Given the description of an element on the screen output the (x, y) to click on. 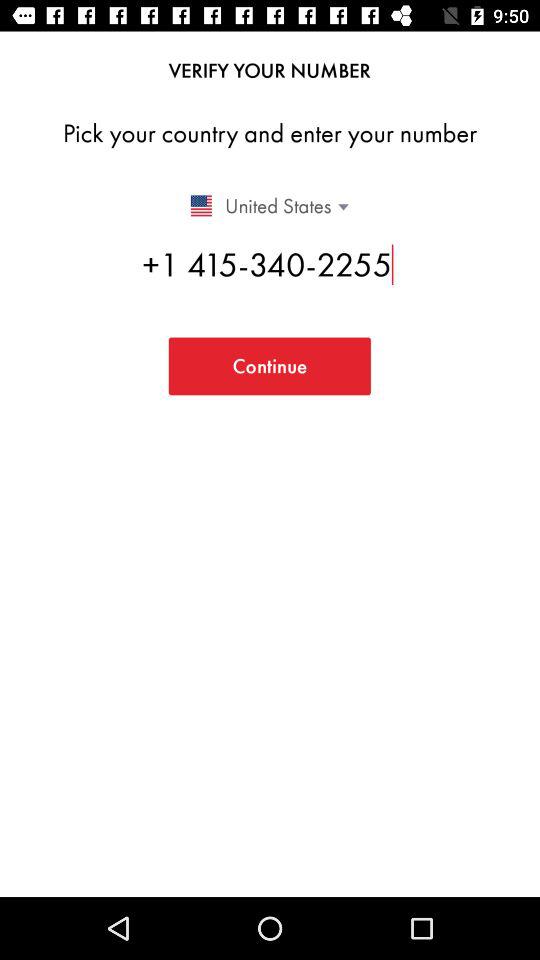
tap icon below 1 415 340 item (269, 366)
